Given the description of an element on the screen output the (x, y) to click on. 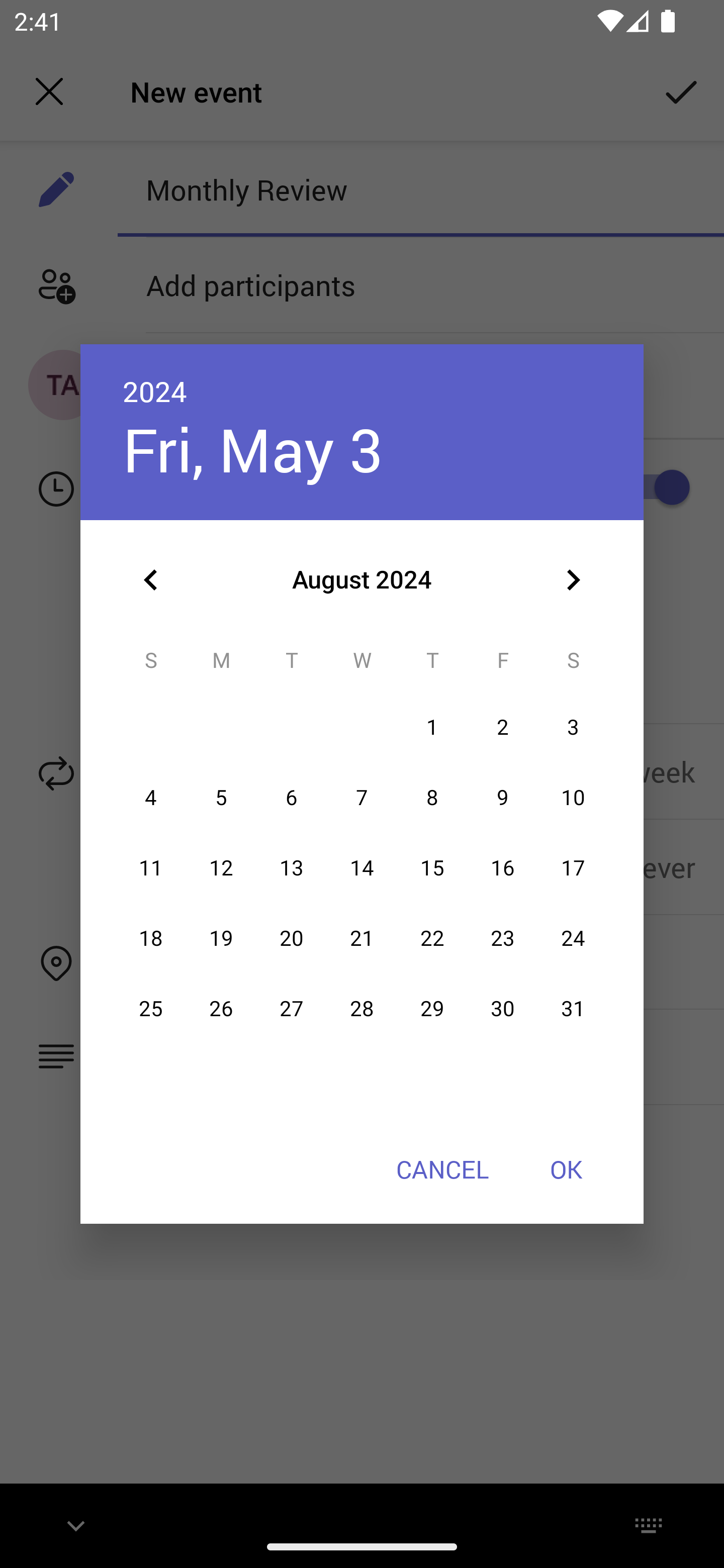
2024 (154, 391)
Fri, May 3 (252, 449)
Previous month (150, 579)
Next month (572, 579)
1 01 August 2024 (432, 728)
2 02 August 2024 (502, 728)
3 03 August 2024 (572, 728)
4 04 August 2024 (150, 797)
5 05 August 2024 (221, 797)
6 06 August 2024 (291, 797)
7 07 August 2024 (361, 797)
8 08 August 2024 (432, 797)
9 09 August 2024 (502, 797)
10 10 August 2024 (572, 797)
11 11 August 2024 (150, 867)
12 12 August 2024 (221, 867)
13 13 August 2024 (291, 867)
14 14 August 2024 (361, 867)
15 15 August 2024 (432, 867)
16 16 August 2024 (502, 867)
17 17 August 2024 (572, 867)
18 18 August 2024 (150, 938)
19 19 August 2024 (221, 938)
20 20 August 2024 (291, 938)
21 21 August 2024 (361, 938)
22 22 August 2024 (432, 938)
23 23 August 2024 (502, 938)
24 24 August 2024 (572, 938)
25 25 August 2024 (150, 1008)
26 26 August 2024 (221, 1008)
27 27 August 2024 (291, 1008)
28 28 August 2024 (361, 1008)
29 29 August 2024 (432, 1008)
30 30 August 2024 (502, 1008)
31 31 August 2024 (572, 1008)
CANCEL (442, 1168)
OK (565, 1168)
